Given the description of an element on the screen output the (x, y) to click on. 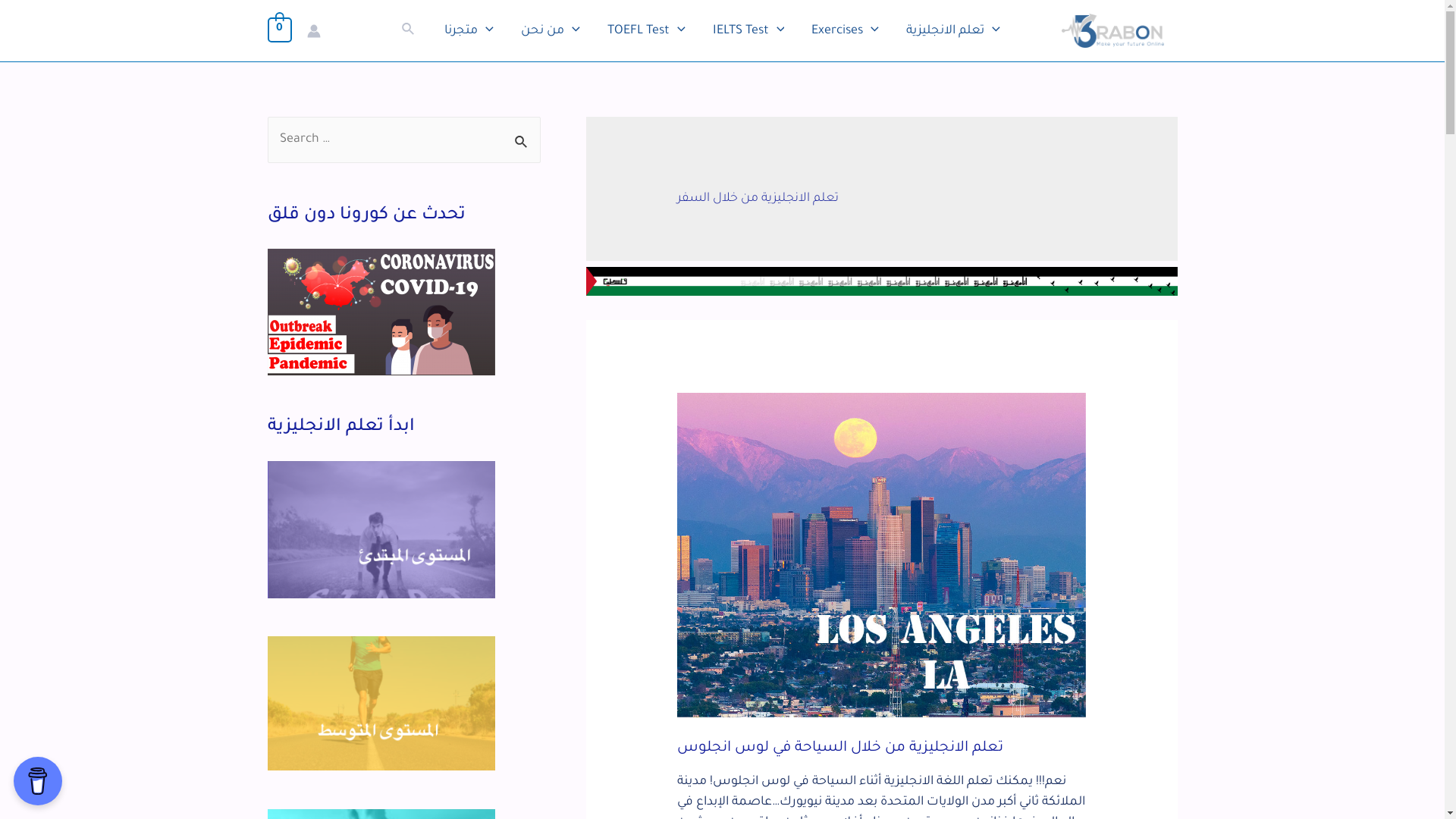
0 Element type: text (278, 30)
Search Element type: text (523, 133)
Search Element type: text (408, 30)
IELTS Test Element type: text (748, 30)
TOEFL Test Element type: text (646, 30)
Exercises Element type: text (844, 30)
